Given the description of an element on the screen output the (x, y) to click on. 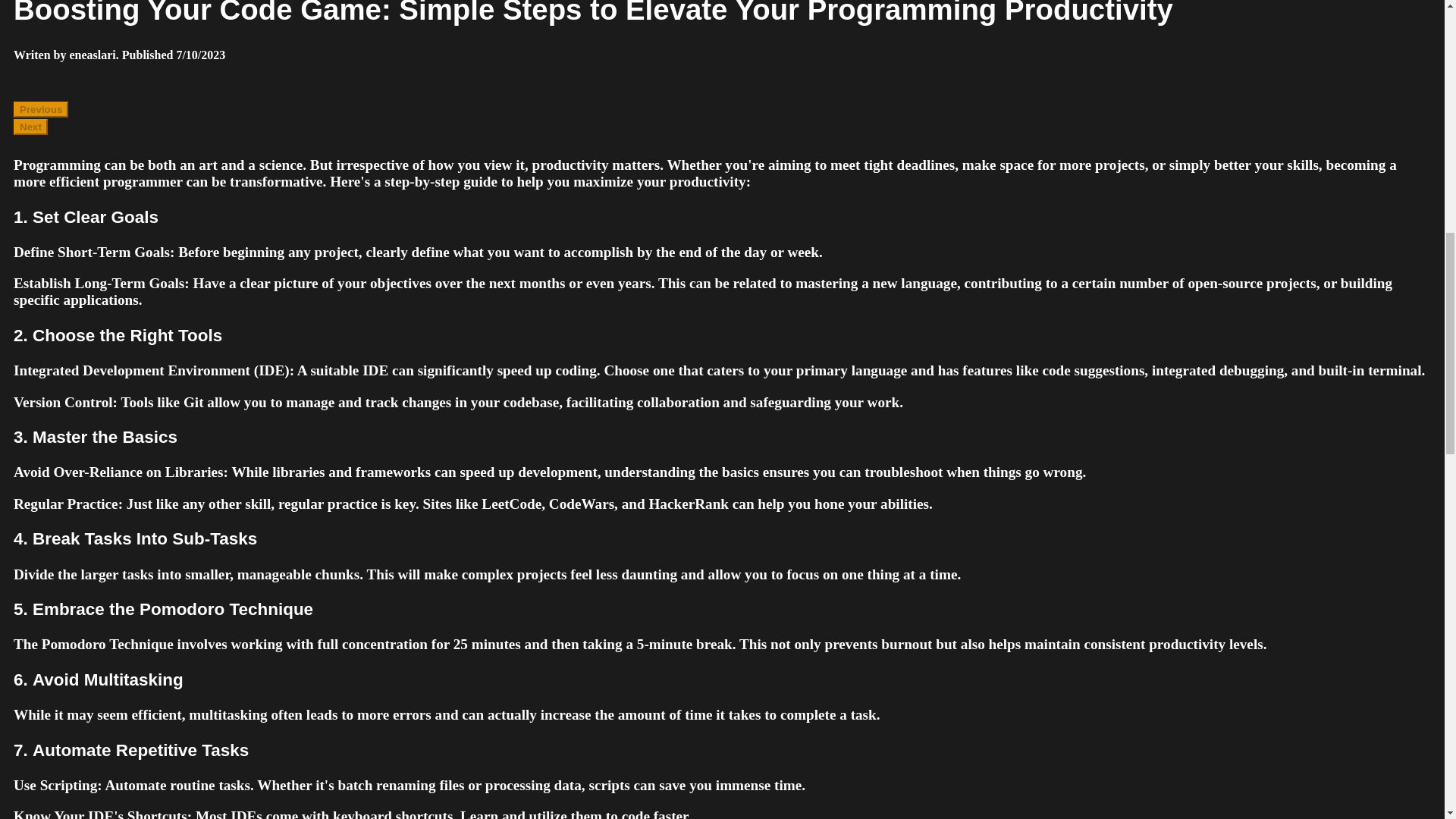
Next (30, 126)
Previous (40, 109)
